Given the description of an element on the screen output the (x, y) to click on. 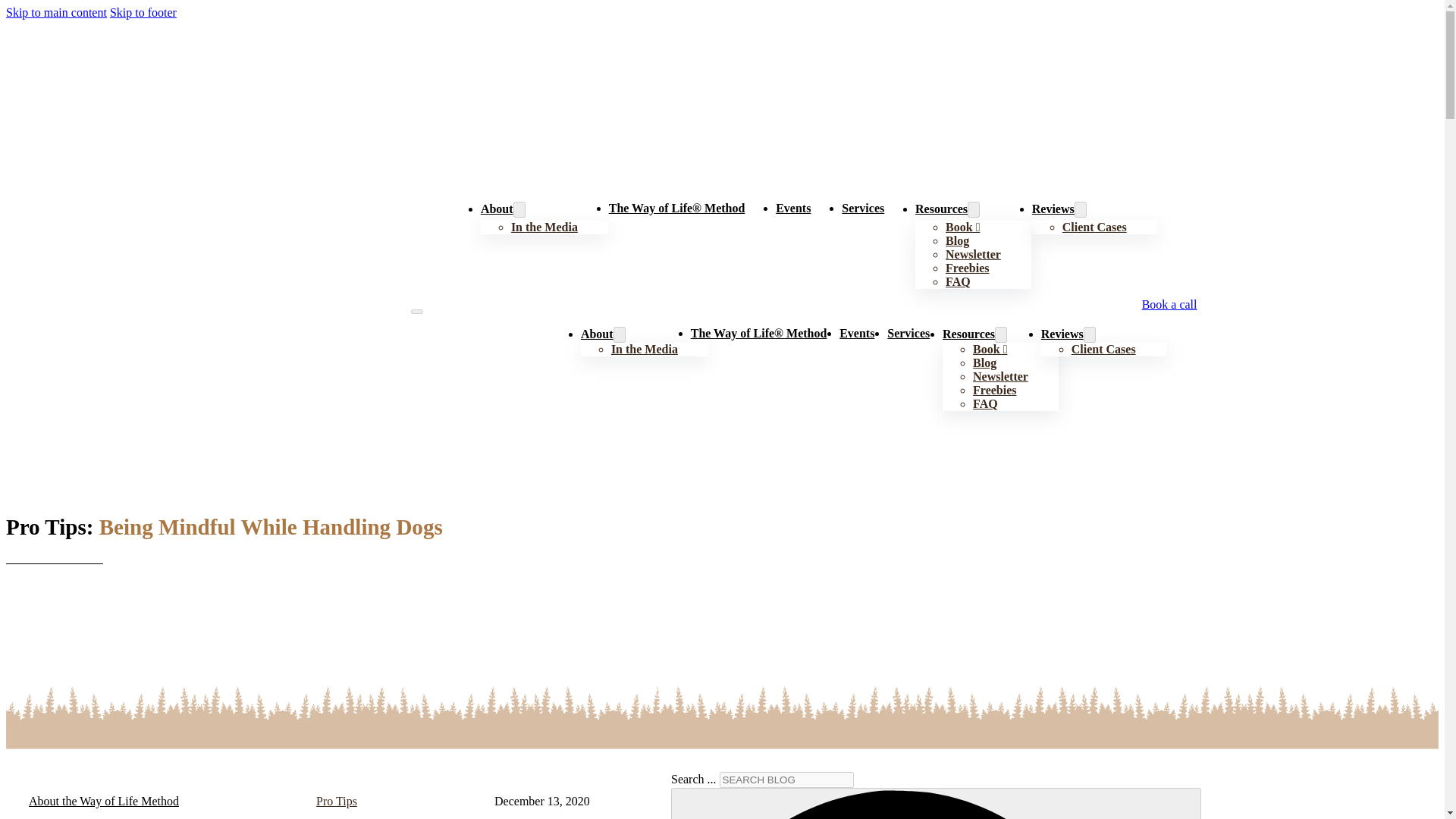
Skip to main content (55, 11)
Services (908, 332)
Book a call (1169, 304)
In the Media (644, 349)
In the Media (544, 226)
About (496, 208)
Services (862, 209)
FAQ (957, 281)
Client Cases (1094, 226)
Resources (941, 208)
